Given the description of an element on the screen output the (x, y) to click on. 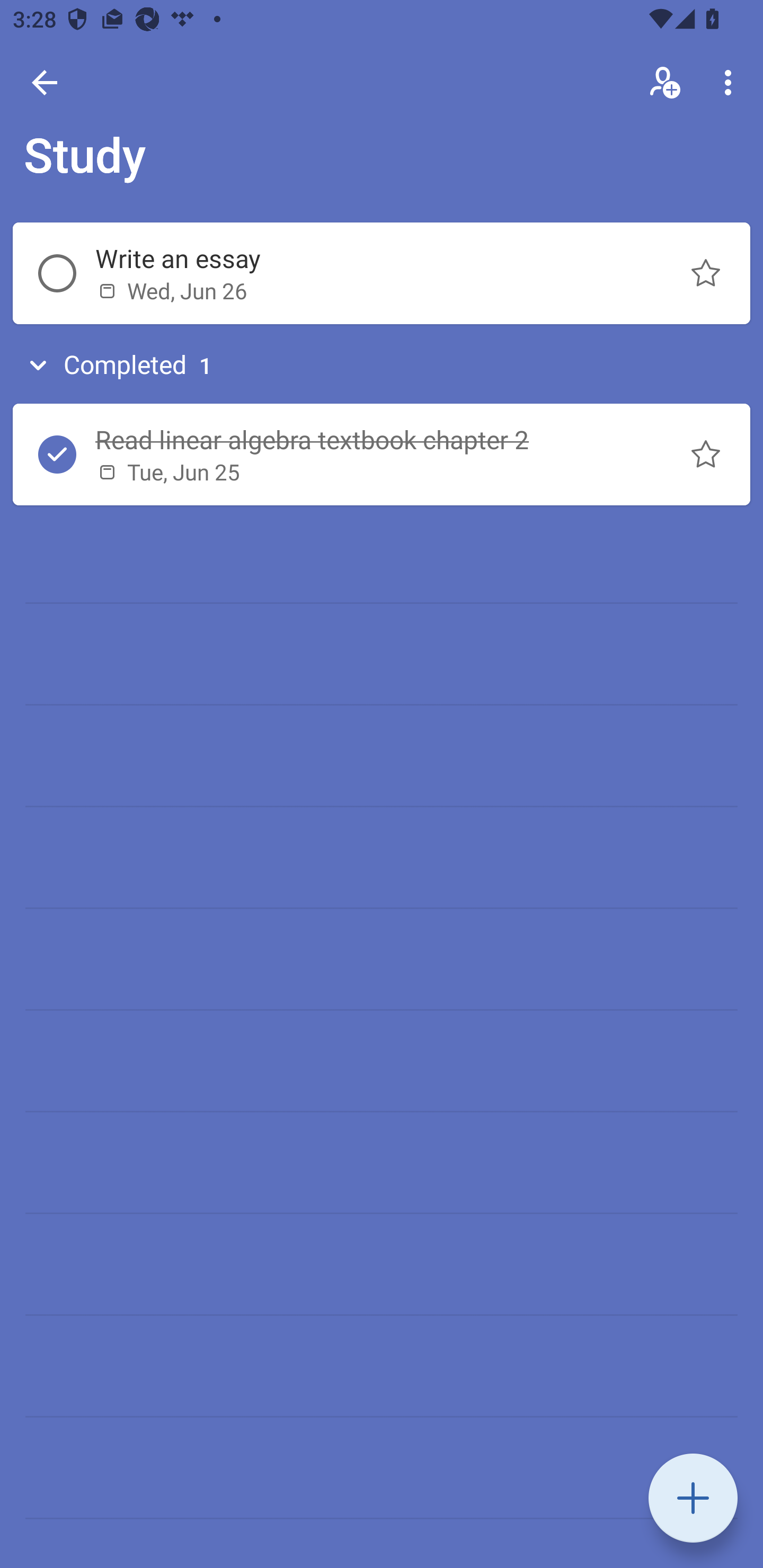
Add a task (692, 1497)
